Given the description of an element on the screen output the (x, y) to click on. 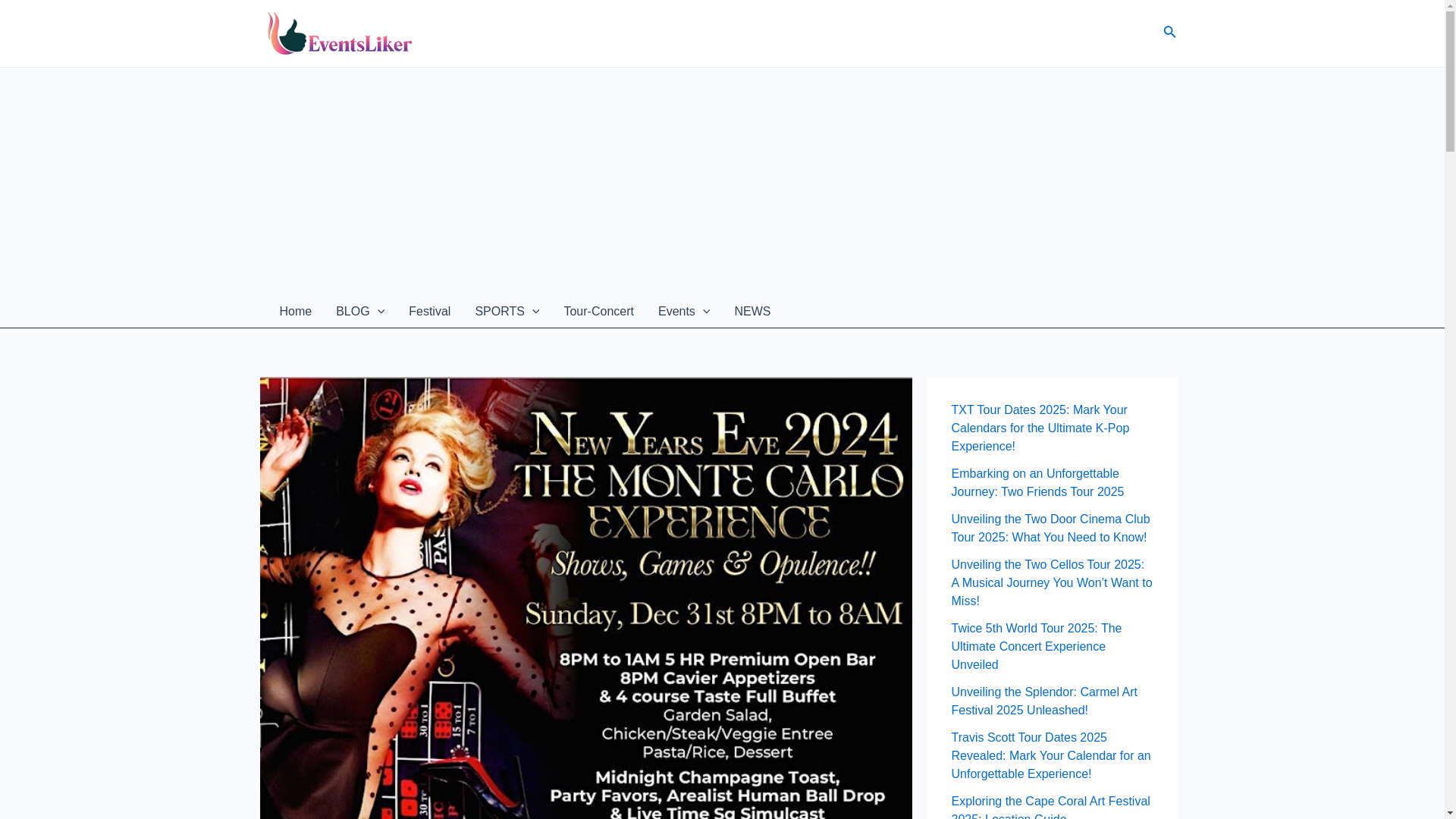
BLOG (359, 310)
Tour-Concert (598, 310)
SPORTS (507, 310)
NEWS (752, 310)
Events (684, 310)
Home (294, 310)
Festival (429, 310)
